Given the description of an element on the screen output the (x, y) to click on. 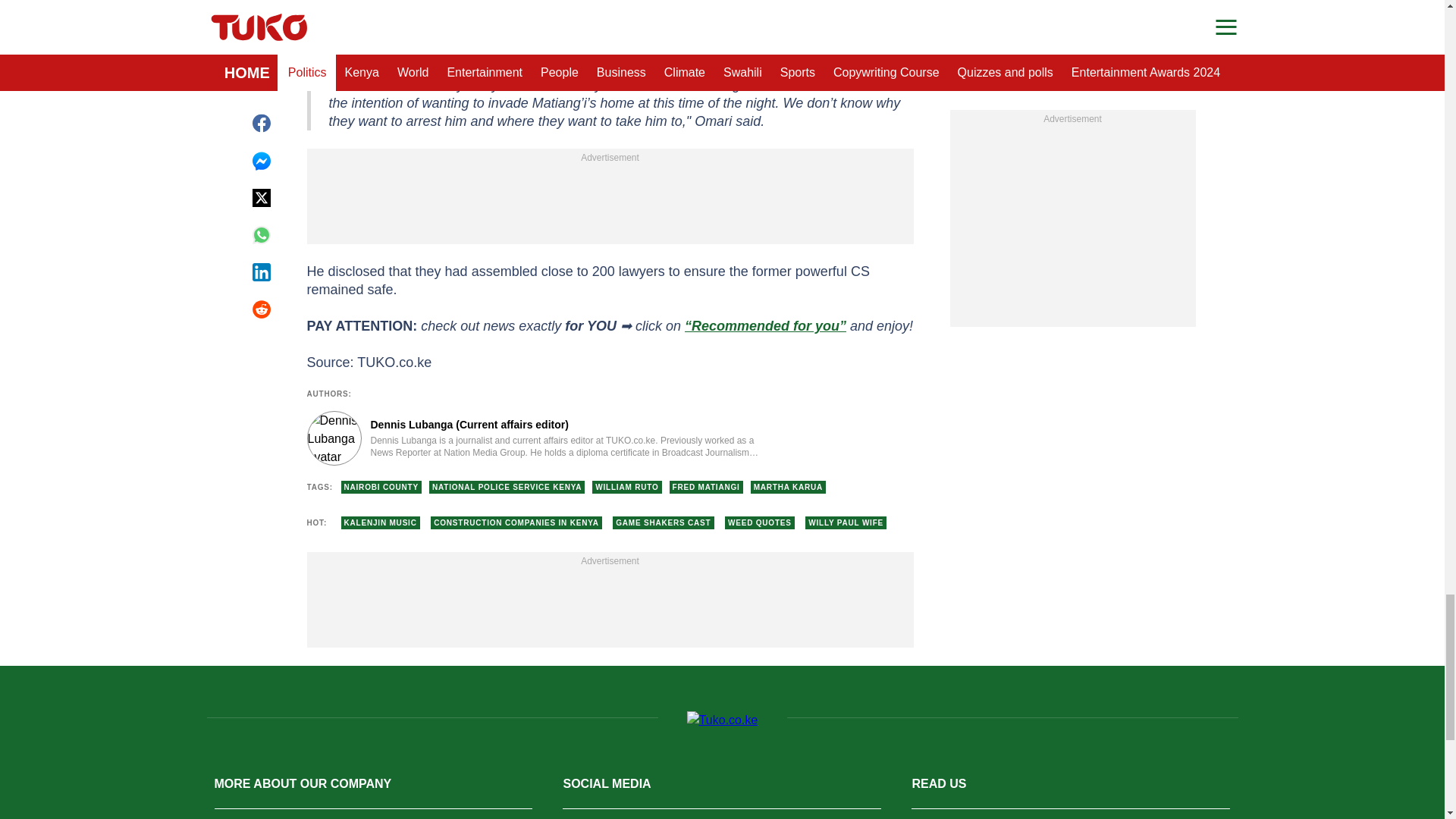
Author page (533, 438)
